Given the description of an element on the screen output the (x, y) to click on. 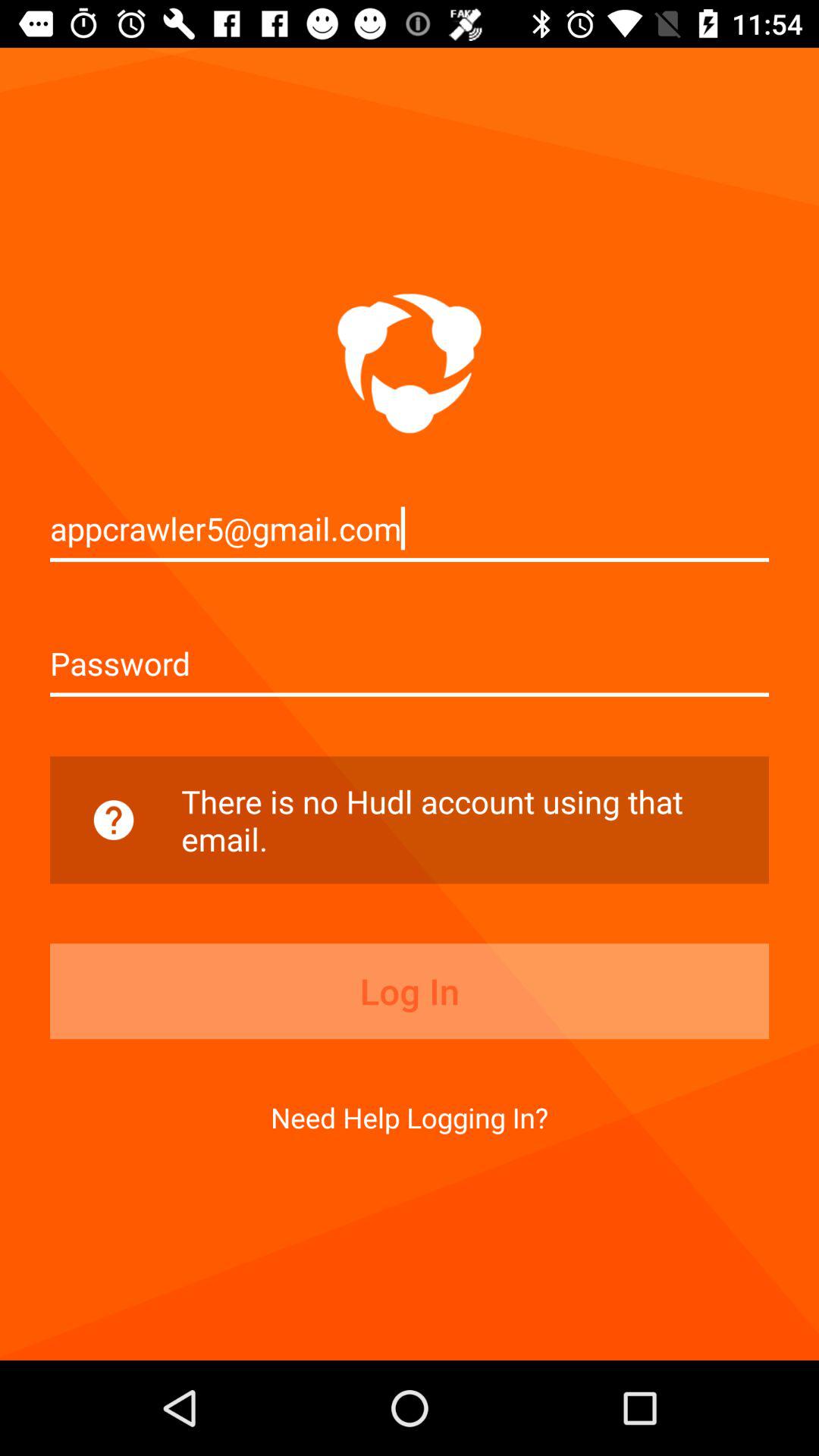
click the appcrawler5@gmail.com item (409, 527)
